Given the description of an element on the screen output the (x, y) to click on. 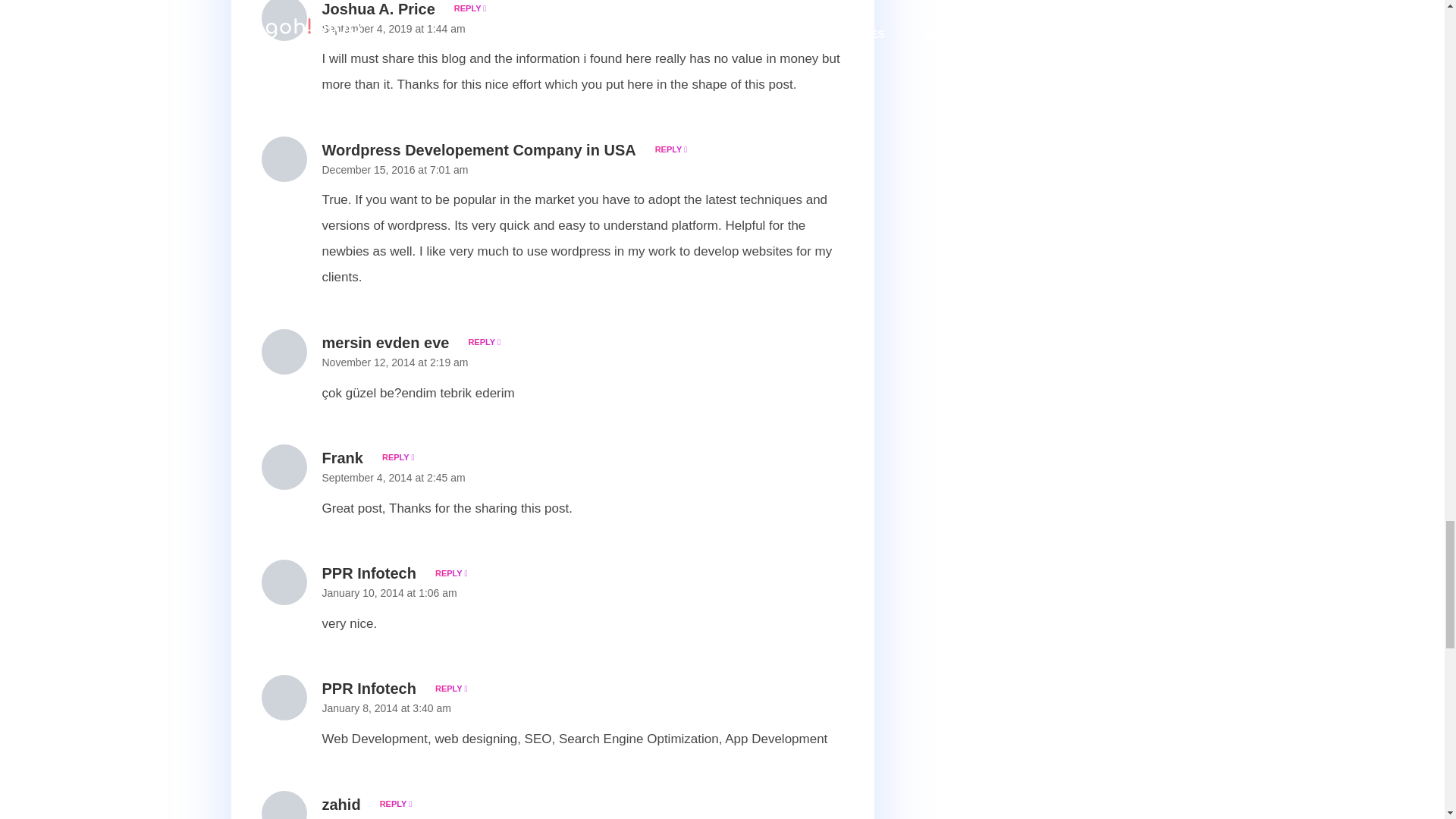
September 4, 2019 at 1:44 am (392, 28)
November 12, 2014 at 2:19 am (394, 362)
REPLY (467, 8)
December 15, 2016 at 7:01 am (394, 169)
September 4, 2019 at 1:44 am (392, 28)
December 15, 2016 at 7:01 am (394, 169)
REPLY (448, 687)
January 8, 2014 at 3:40 am (385, 707)
REPLY (395, 456)
September 4, 2014 at 2:45 am (392, 477)
